Given the description of an element on the screen output the (x, y) to click on. 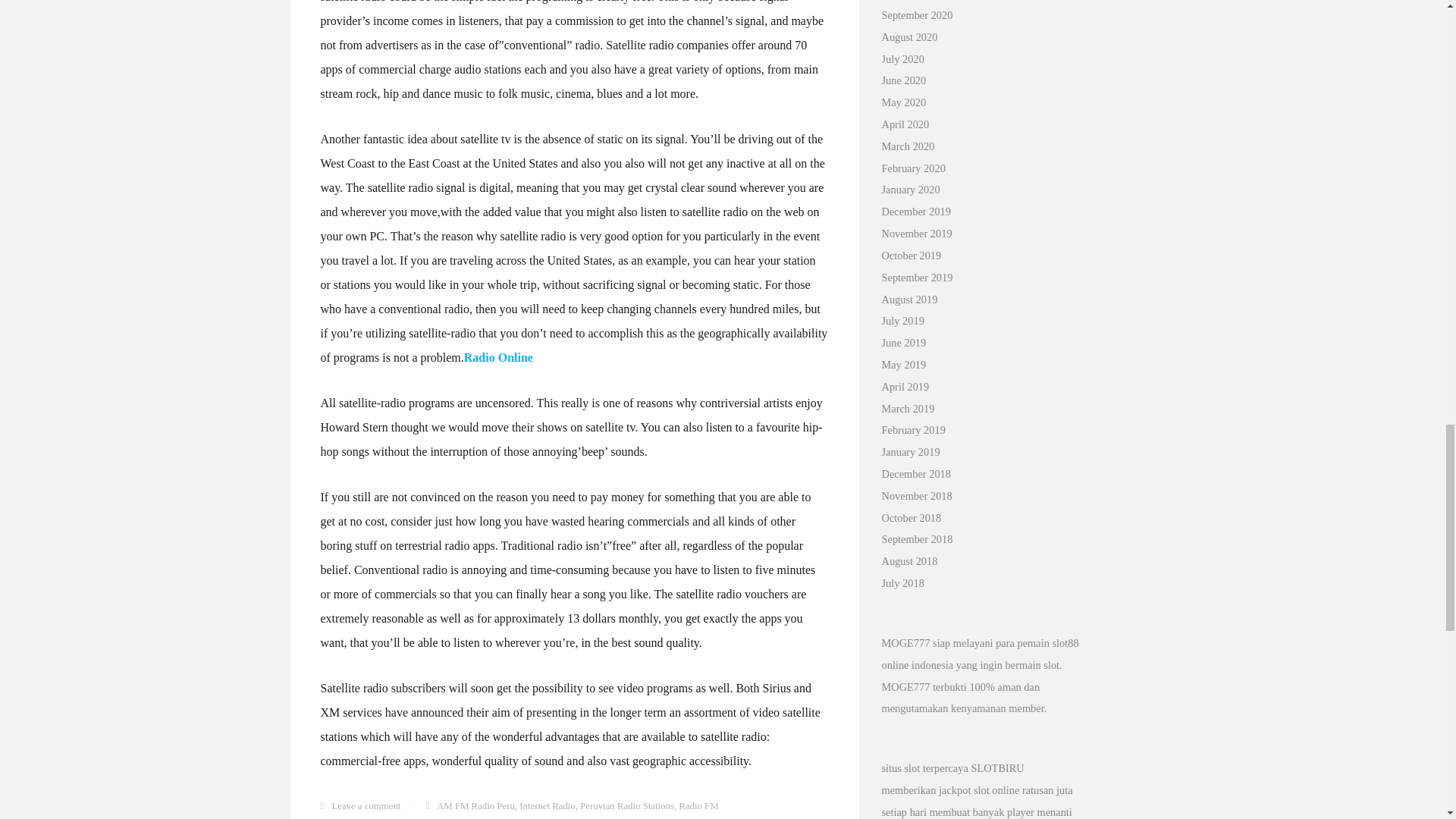
Leave a comment (365, 805)
Radio FM Peru (518, 809)
AM FM Radio Peru (475, 805)
Radio Online (498, 357)
Peruvian Radio Stations (626, 805)
Internet Radio (547, 805)
